Given the description of an element on the screen output the (x, y) to click on. 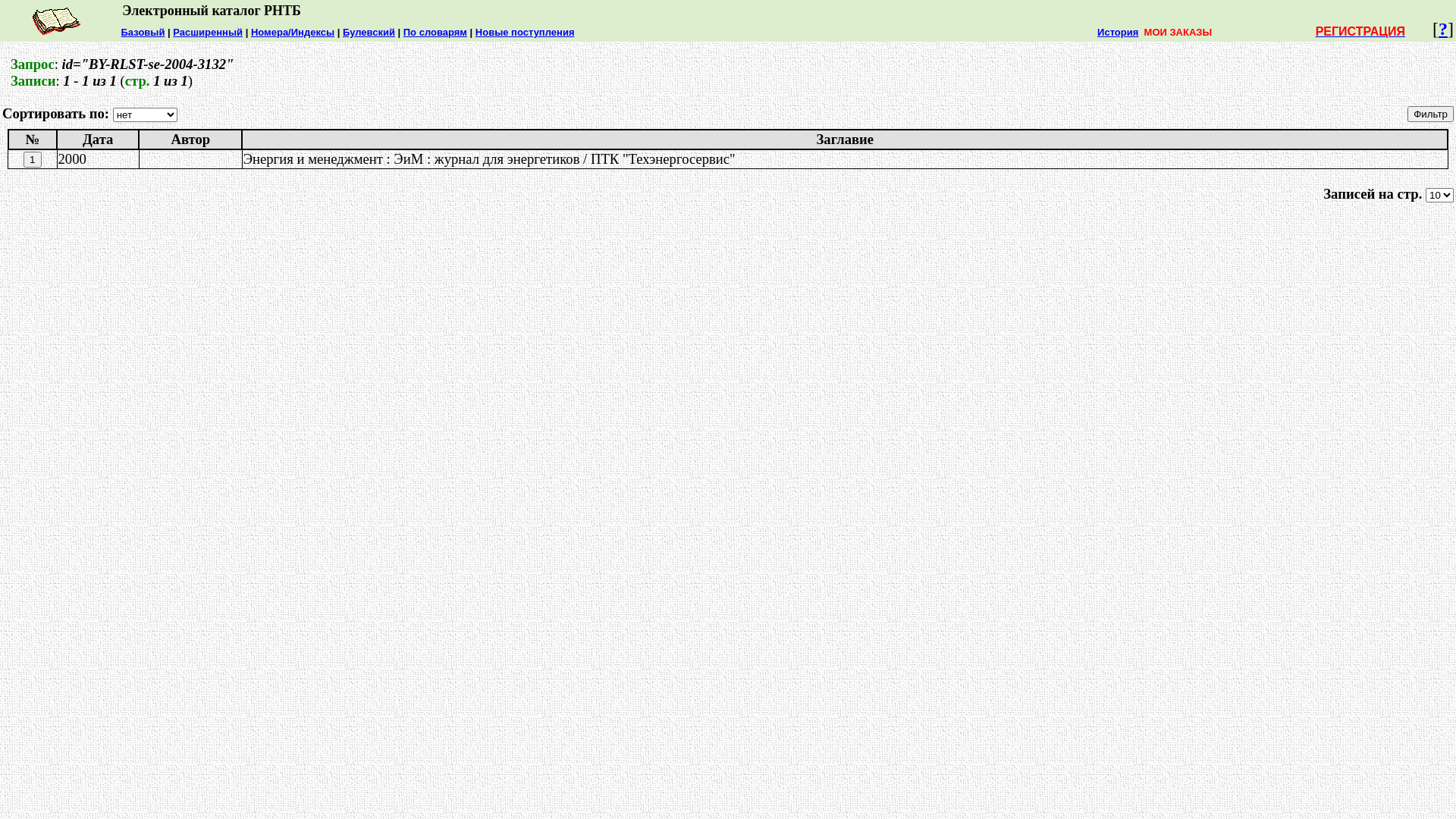
1 Element type: text (31, 159)
? Element type: text (1442, 28)
